Given the description of an element on the screen output the (x, y) to click on. 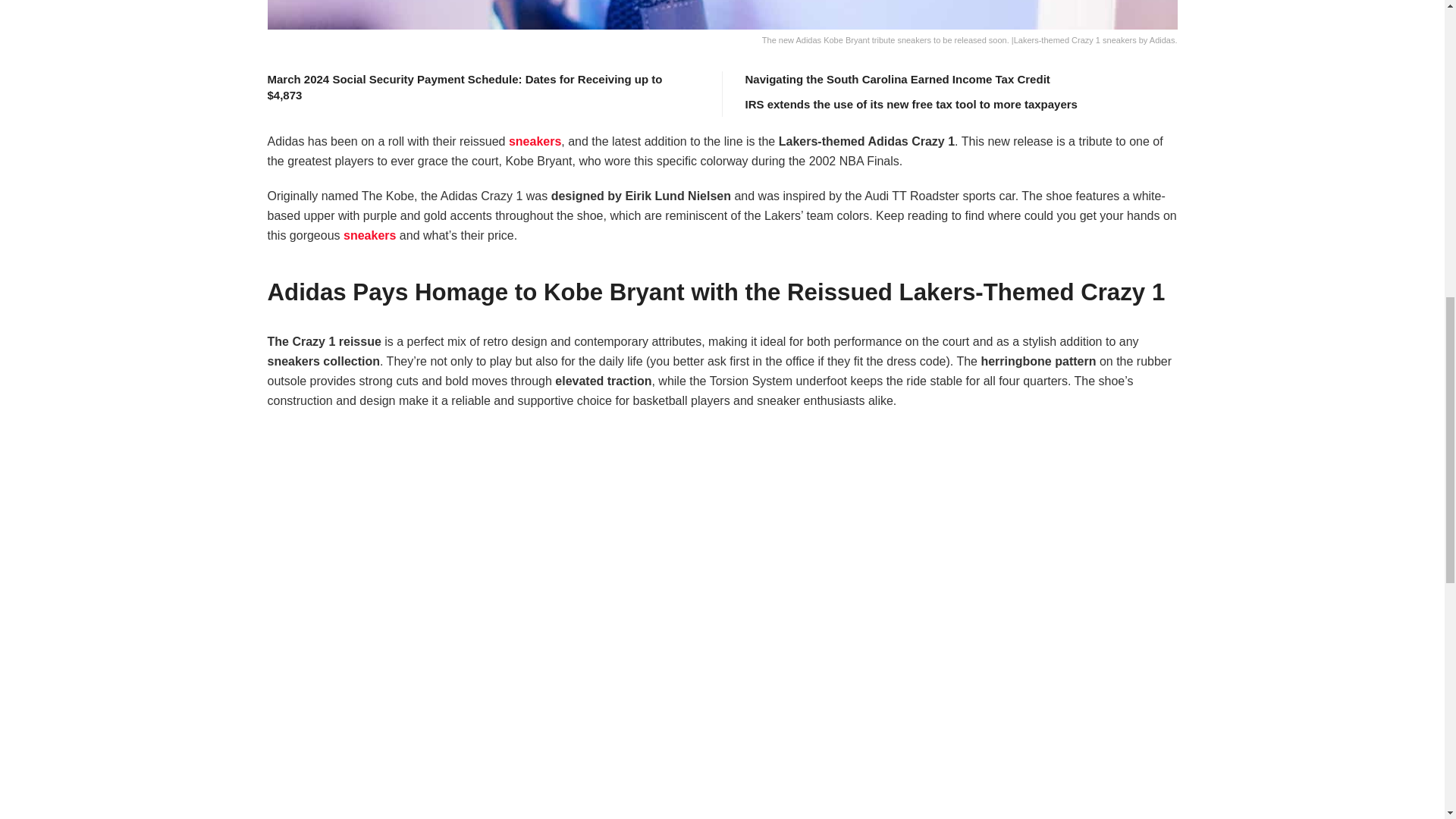
sneakers (534, 141)
sneakers (369, 235)
Navigating the South Carolina Earned Income Tax Credit (896, 78)
